Given the description of an element on the screen output the (x, y) to click on. 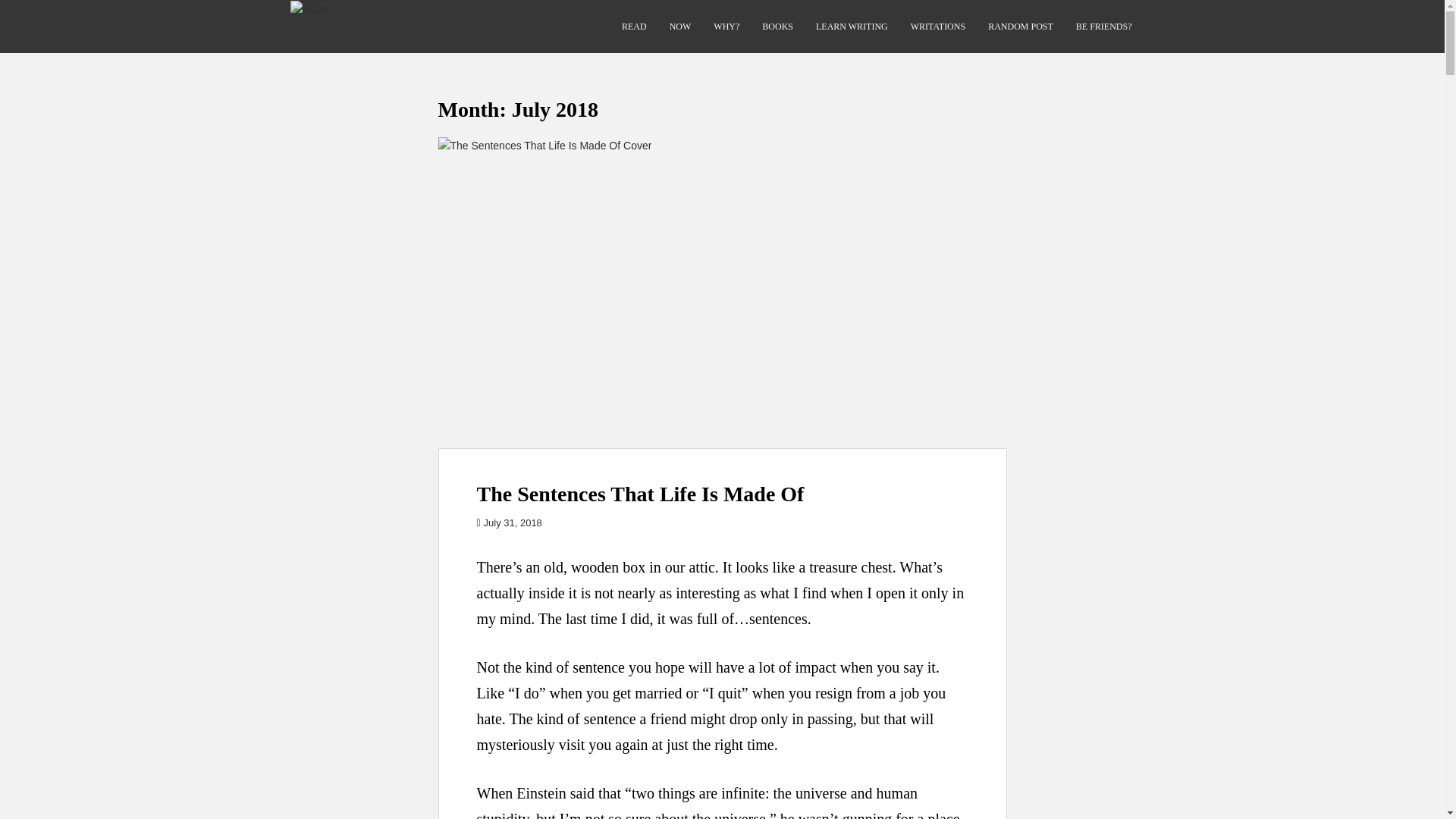
July 31, 2018 (512, 522)
BE FRIENDS? (1103, 26)
BOOKS (777, 26)
The Sentences That Life Is Made Of (639, 494)
LEARN WRITING (851, 26)
WRITATIONS (938, 26)
RANDOM POST (1020, 26)
